Given the description of an element on the screen output the (x, y) to click on. 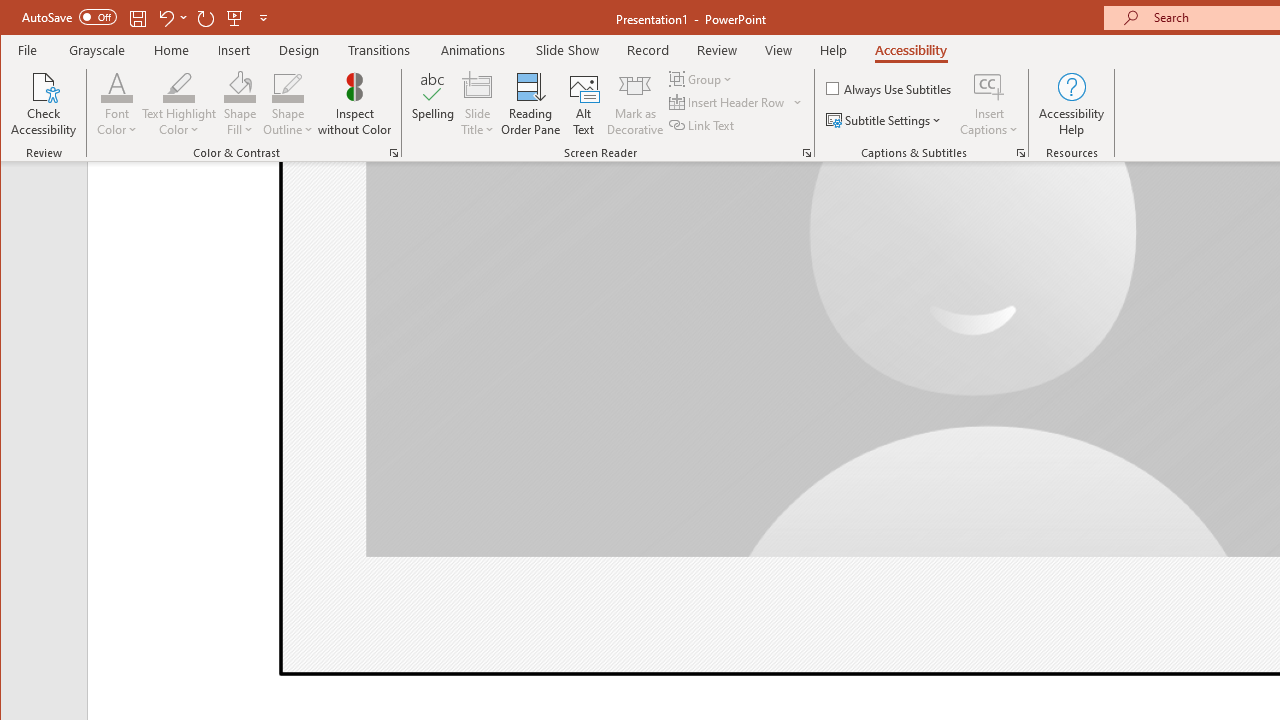
Captions & Subtitles (1020, 152)
Mark as Decorative (635, 104)
Link Text (703, 124)
Screen Reader (806, 152)
